Given the description of an element on the screen output the (x, y) to click on. 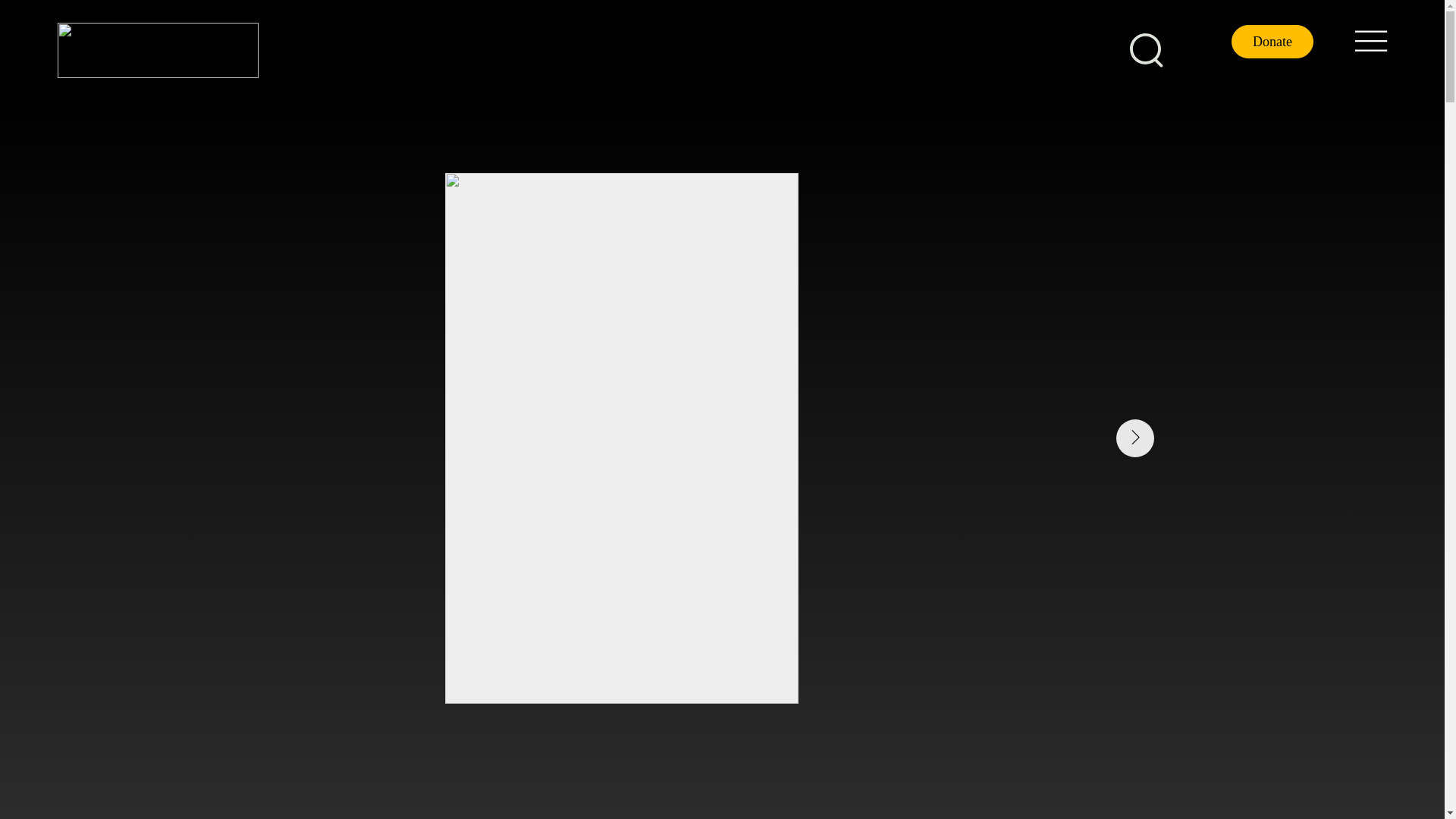
Donate (1272, 41)
